Given the description of an element on the screen output the (x, y) to click on. 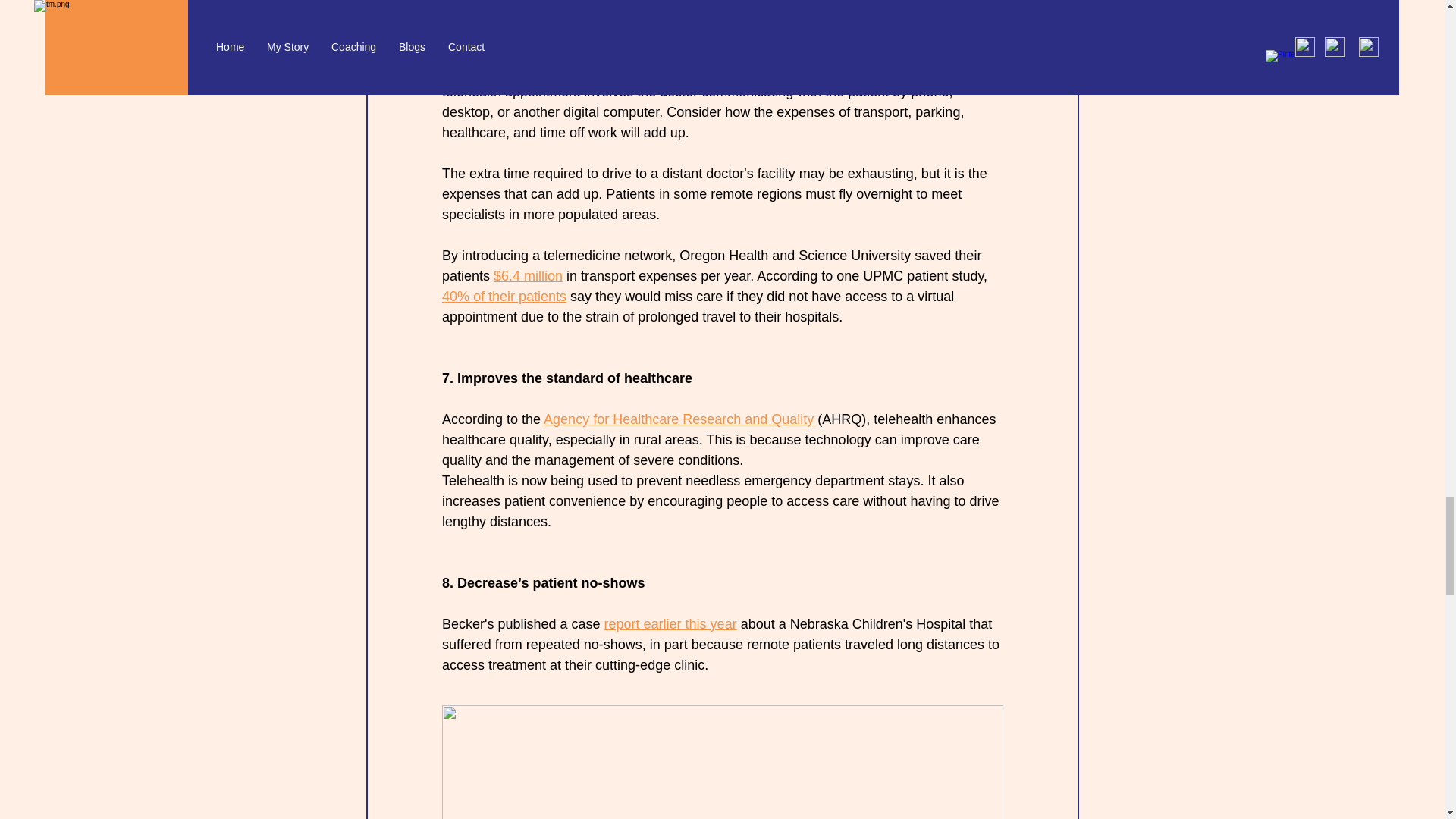
report earlier this year (670, 623)
Agency for Healthcare Research and Quality (678, 418)
